Given the description of an element on the screen output the (x, y) to click on. 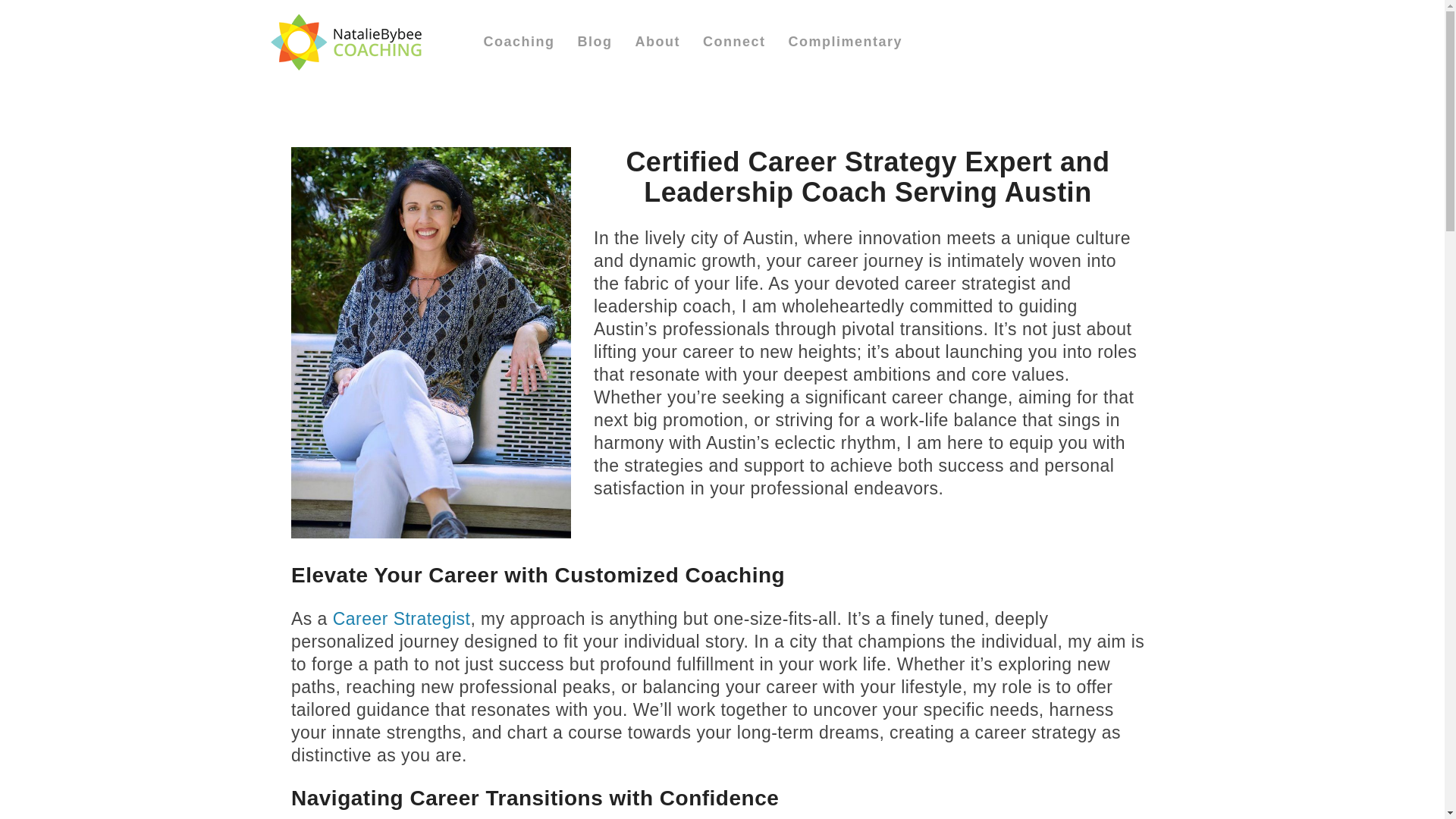
Connect (734, 41)
Coaching (518, 41)
Blog (595, 41)
About (657, 41)
Career Strategist (721, 41)
Complimentary (401, 618)
